Given the description of an element on the screen output the (x, y) to click on. 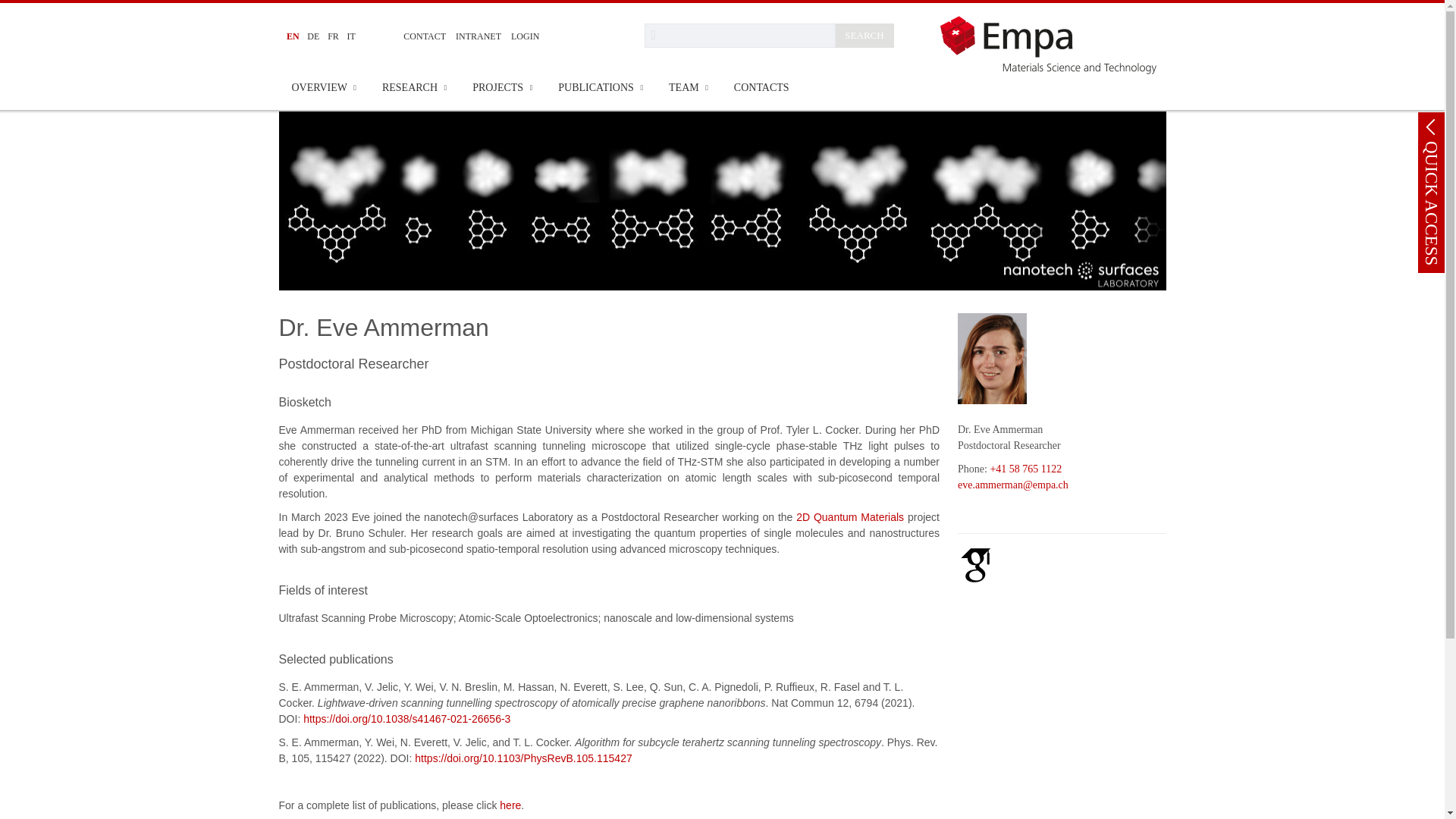
Search (740, 35)
Go to Empa (1052, 44)
Skip to Main Content (5, 5)
